Given the description of an element on the screen output the (x, y) to click on. 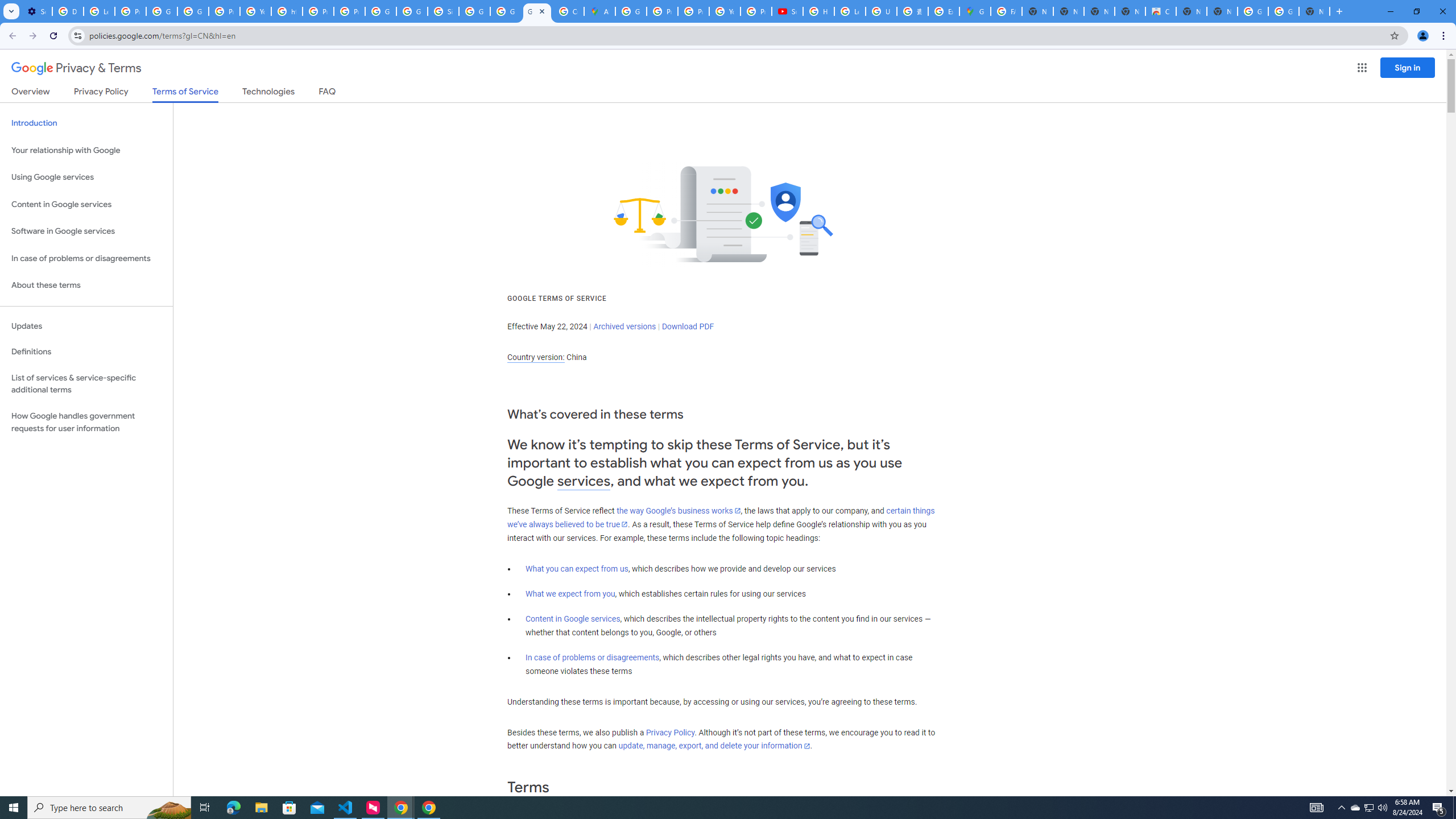
New Tab (1314, 11)
Create your Google Account (568, 11)
How Google handles government requests for user information (86, 422)
In case of problems or disagreements (592, 657)
Definitions (86, 352)
Google Images (1252, 11)
Privacy Help Center - Policies Help (662, 11)
Privacy Help Center - Policies Help (318, 11)
What we expect from you (570, 593)
